Given the description of an element on the screen output the (x, y) to click on. 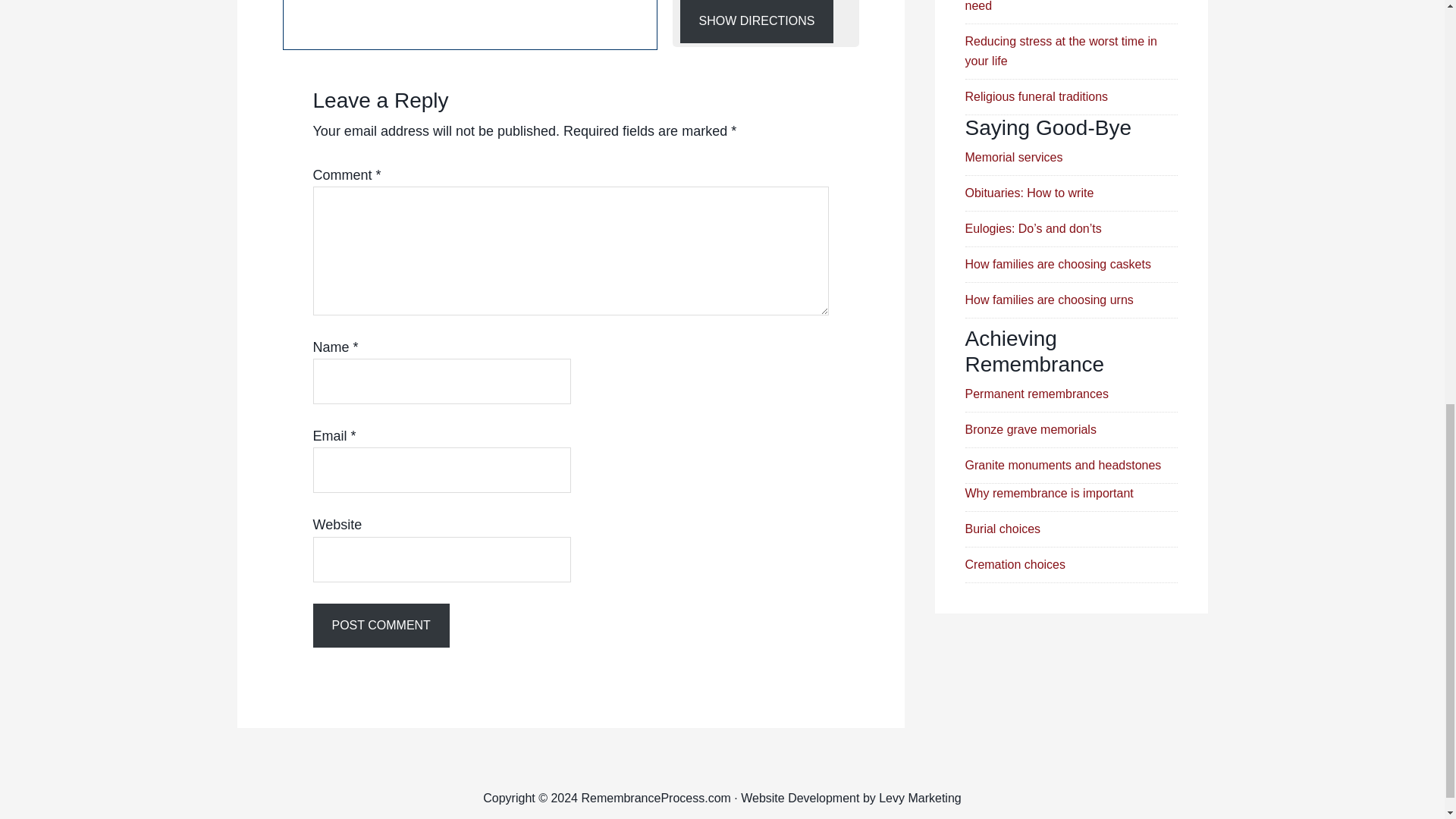
Post Comment (380, 625)
Show Directions (755, 21)
Show Directions (755, 21)
Post Comment (380, 625)
